Given the description of an element on the screen output the (x, y) to click on. 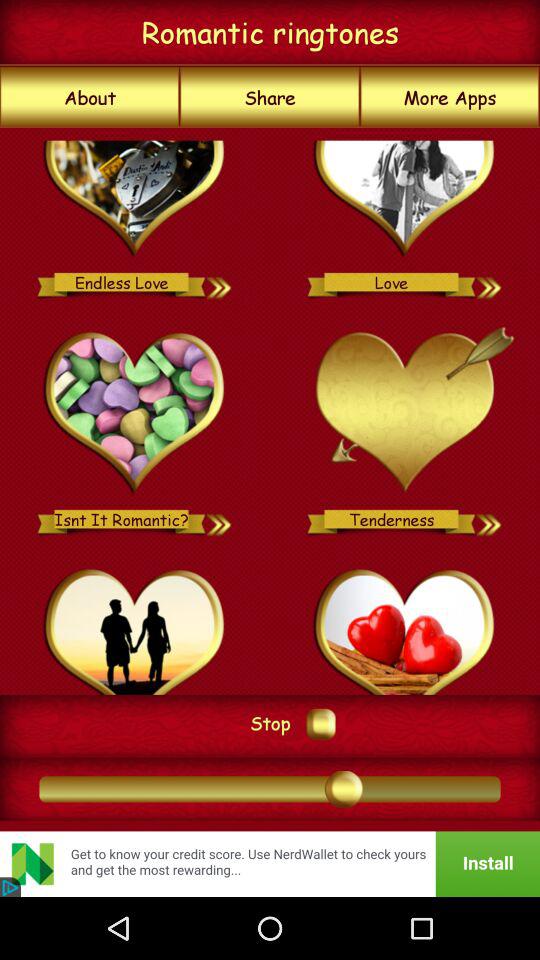
select the more apps item (450, 97)
